Given the description of an element on the screen output the (x, y) to click on. 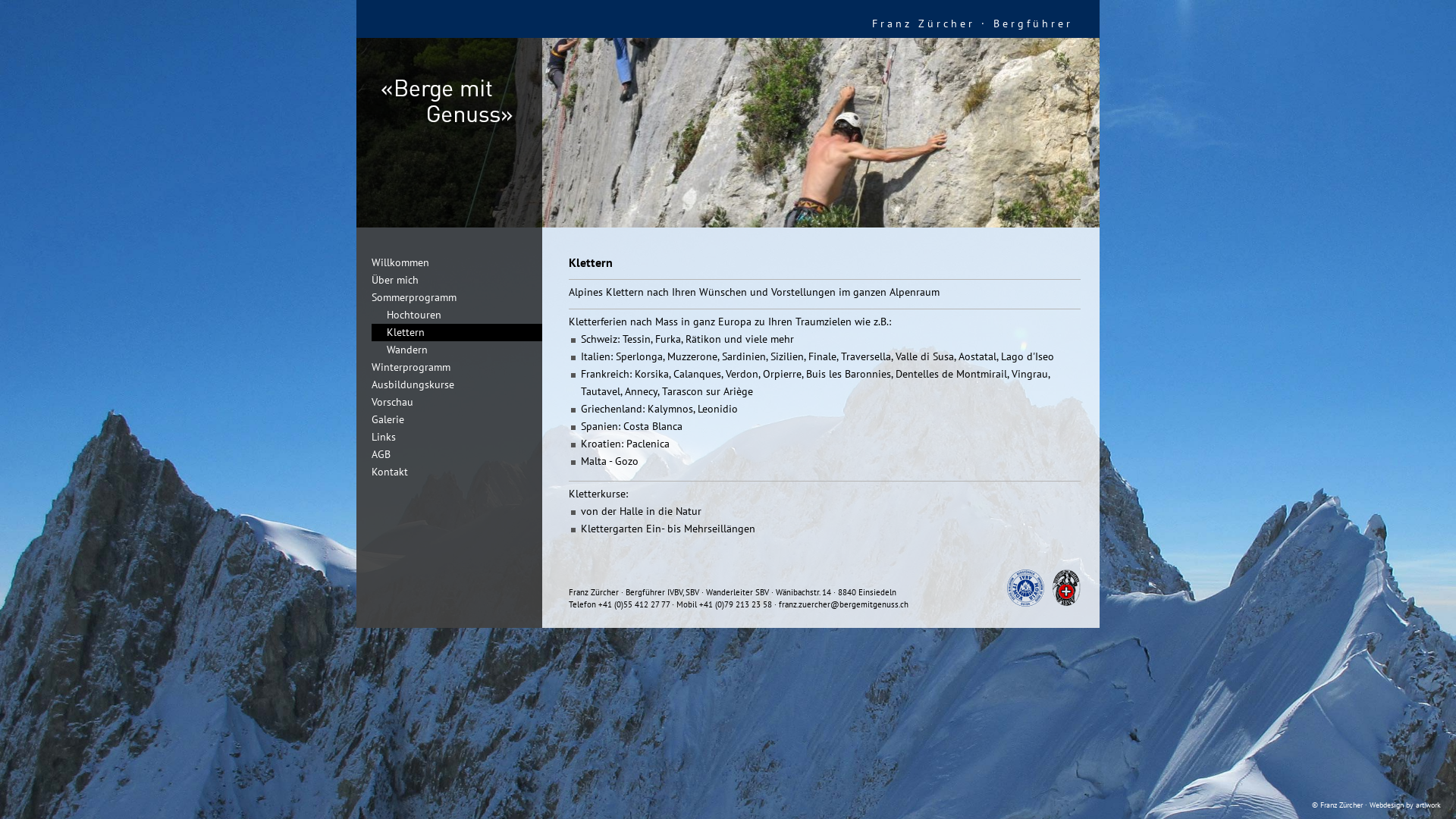
Wandern Element type: text (399, 349)
Klettern Element type: text (456, 332)
Links Element type: text (375, 436)
Winterprogramm Element type: text (403, 366)
AGB Element type: text (373, 454)
Kontakt Element type: text (381, 471)
Hochtouren Element type: text (406, 314)
Ausbildungskurse Element type: text (405, 384)
Sommerprogramm Element type: text (406, 297)
Galerie Element type: text (380, 419)
franz.zuercher@bergemitgenuss.ch Element type: text (843, 604)
Willkommen Element type: text (392, 262)
Vorschau Element type: text (384, 401)
Webdesign by art|work Element type: text (1404, 804)
